Given the description of an element on the screen output the (x, y) to click on. 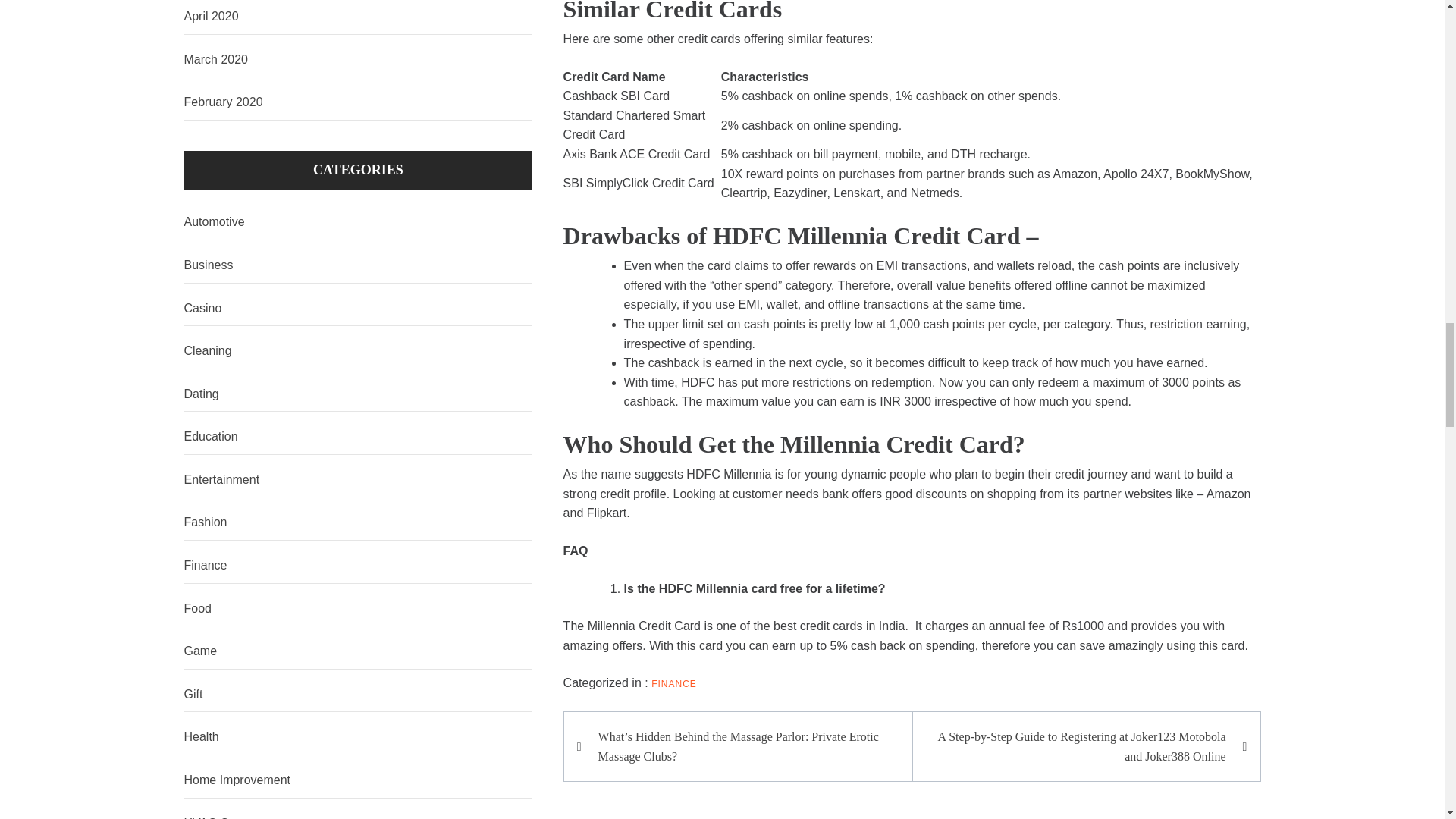
FINANCE (673, 683)
